Given the description of an element on the screen output the (x, y) to click on. 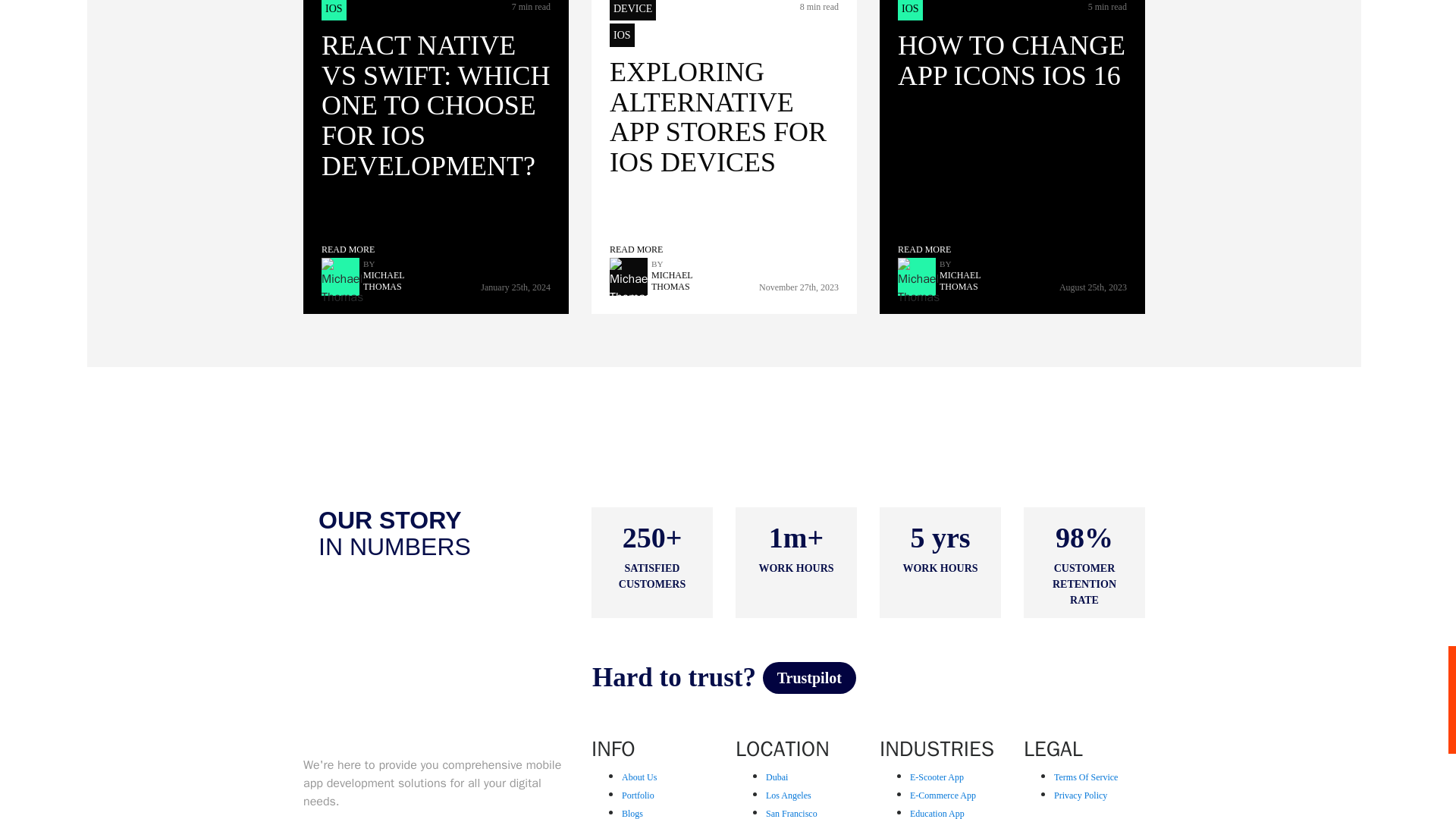
Posts by Michael Thomas (389, 281)
